Given the description of an element on the screen output the (x, y) to click on. 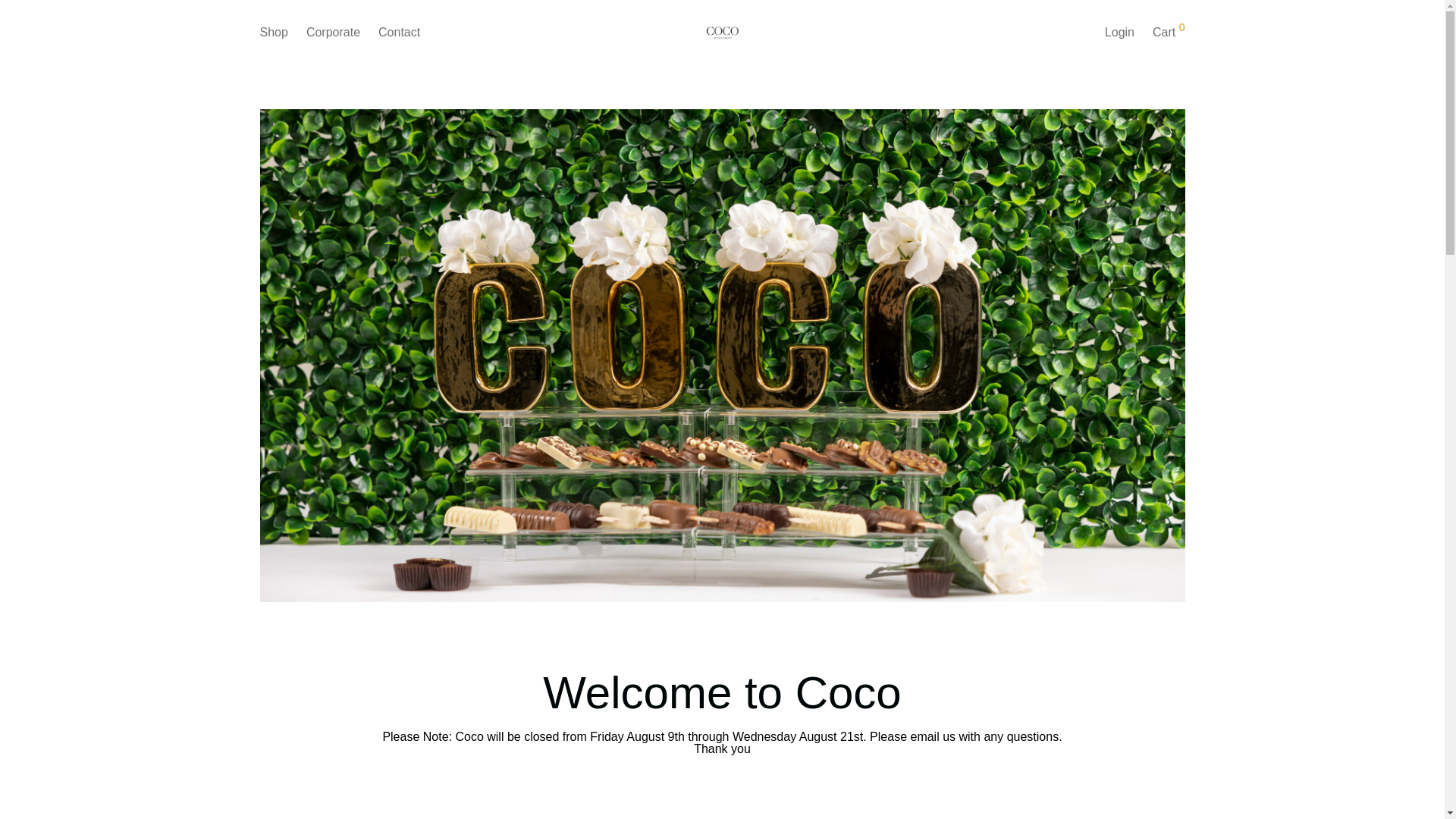
Corporate (333, 32)
Login (1119, 32)
Shop (273, 32)
Cart 0 (1167, 32)
Contact (399, 32)
